Given the description of an element on the screen output the (x, y) to click on. 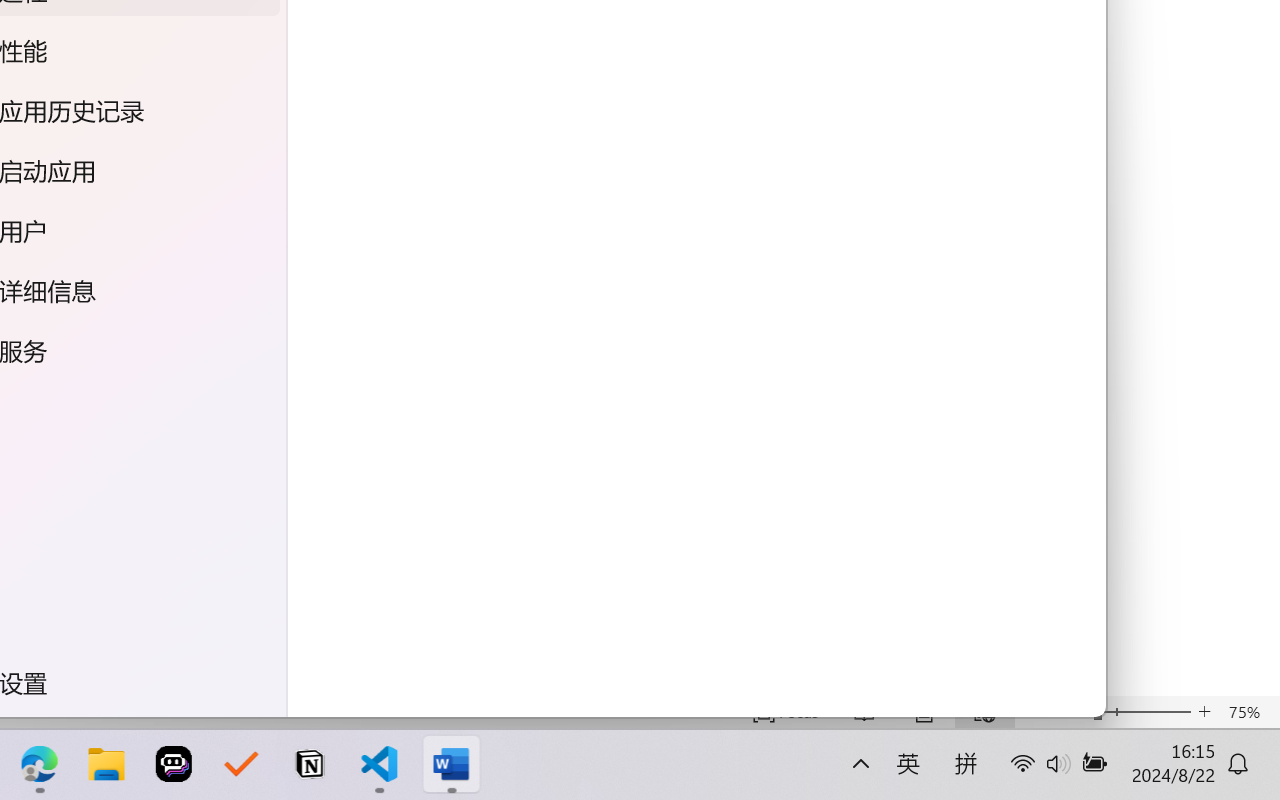
Poe (168, 764)
Notion (300, 764)
